Given the description of an element on the screen output the (x, y) to click on. 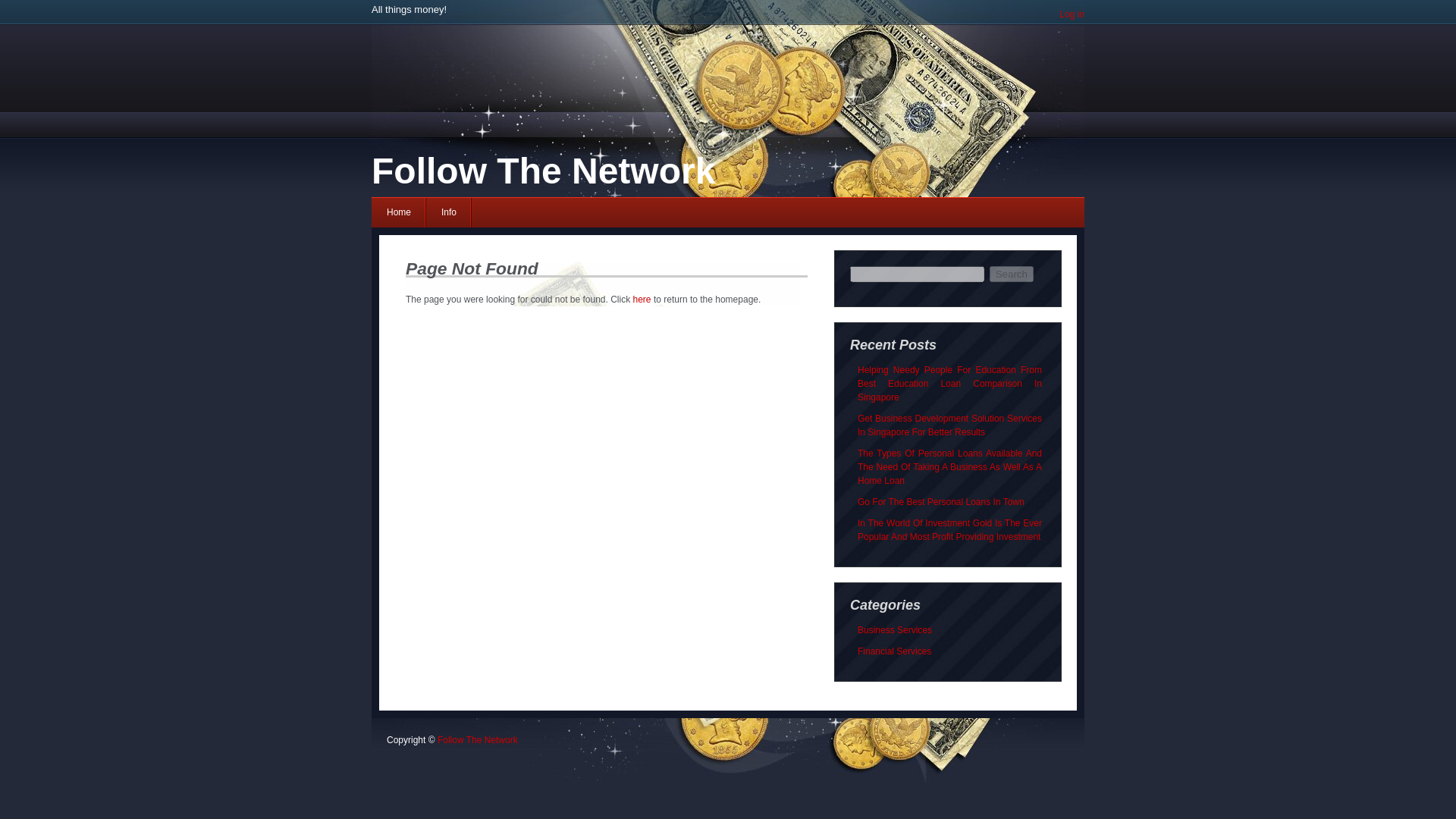
Business Services (894, 629)
Go For The Best Personal Loans In Town (941, 501)
View all posts filed under Financial Services (894, 651)
Log in (1071, 14)
Follow The Network (478, 739)
Home (398, 212)
here (641, 299)
View all posts filed under Business Services (894, 629)
Search (1011, 273)
Info (448, 212)
Follow The Network (542, 170)
Financial Services (894, 651)
